Given the description of an element on the screen output the (x, y) to click on. 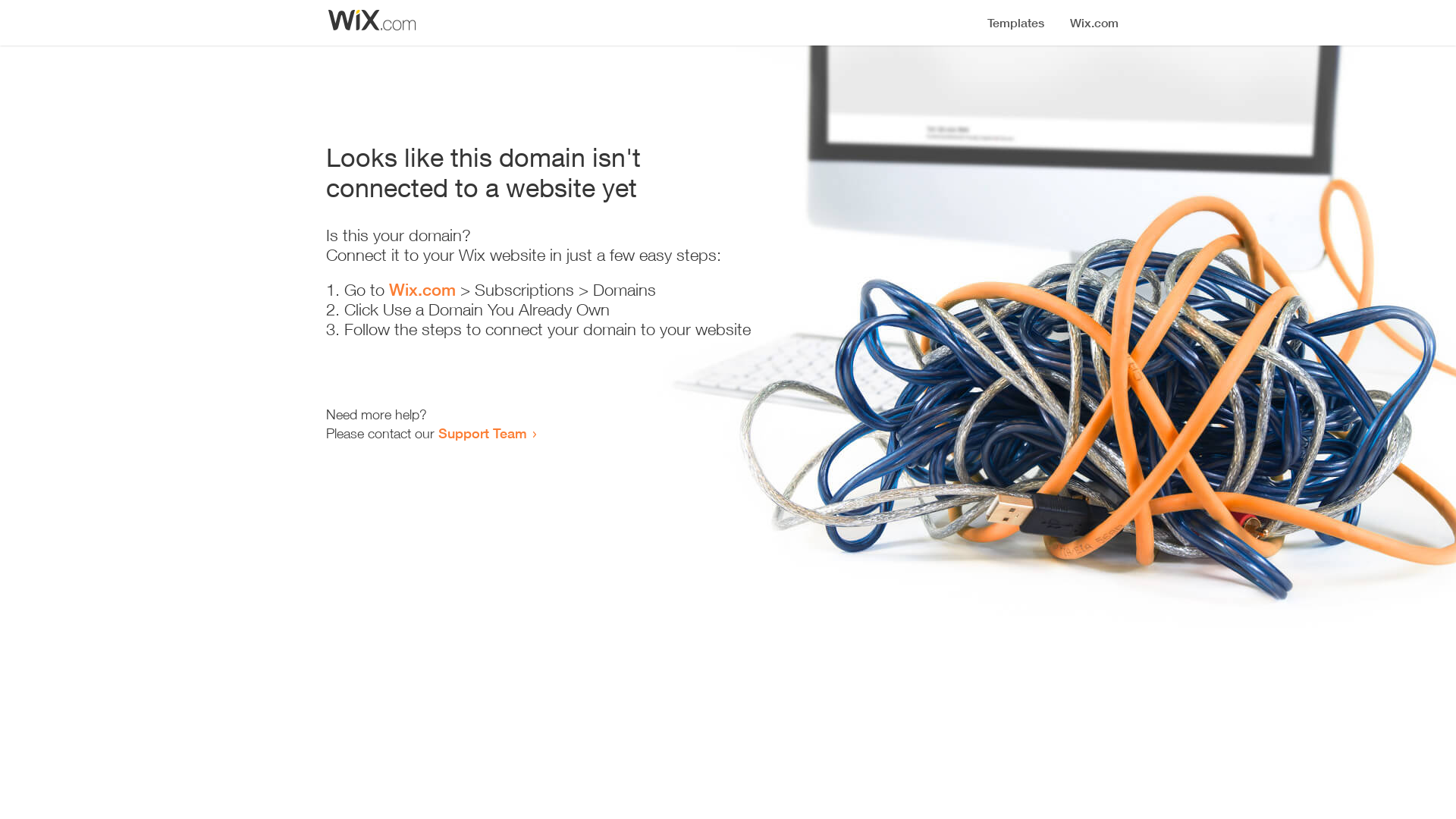
Wix.com Element type: text (422, 289)
Support Team Element type: text (482, 432)
